Given the description of an element on the screen output the (x, y) to click on. 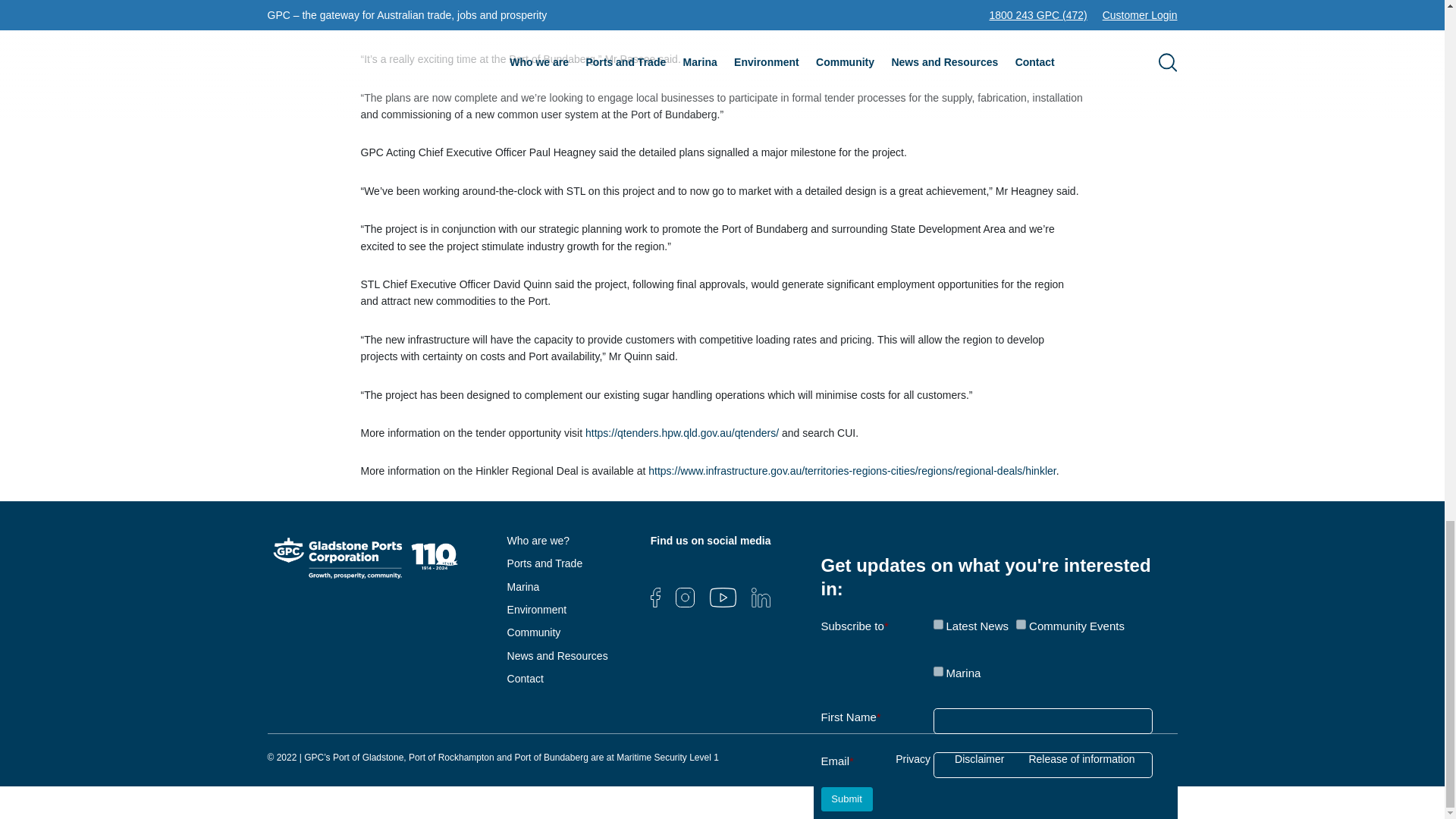
Submit (846, 799)
Submit (846, 799)
on (1021, 624)
on (937, 671)
on (937, 624)
